Given the description of an element on the screen output the (x, y) to click on. 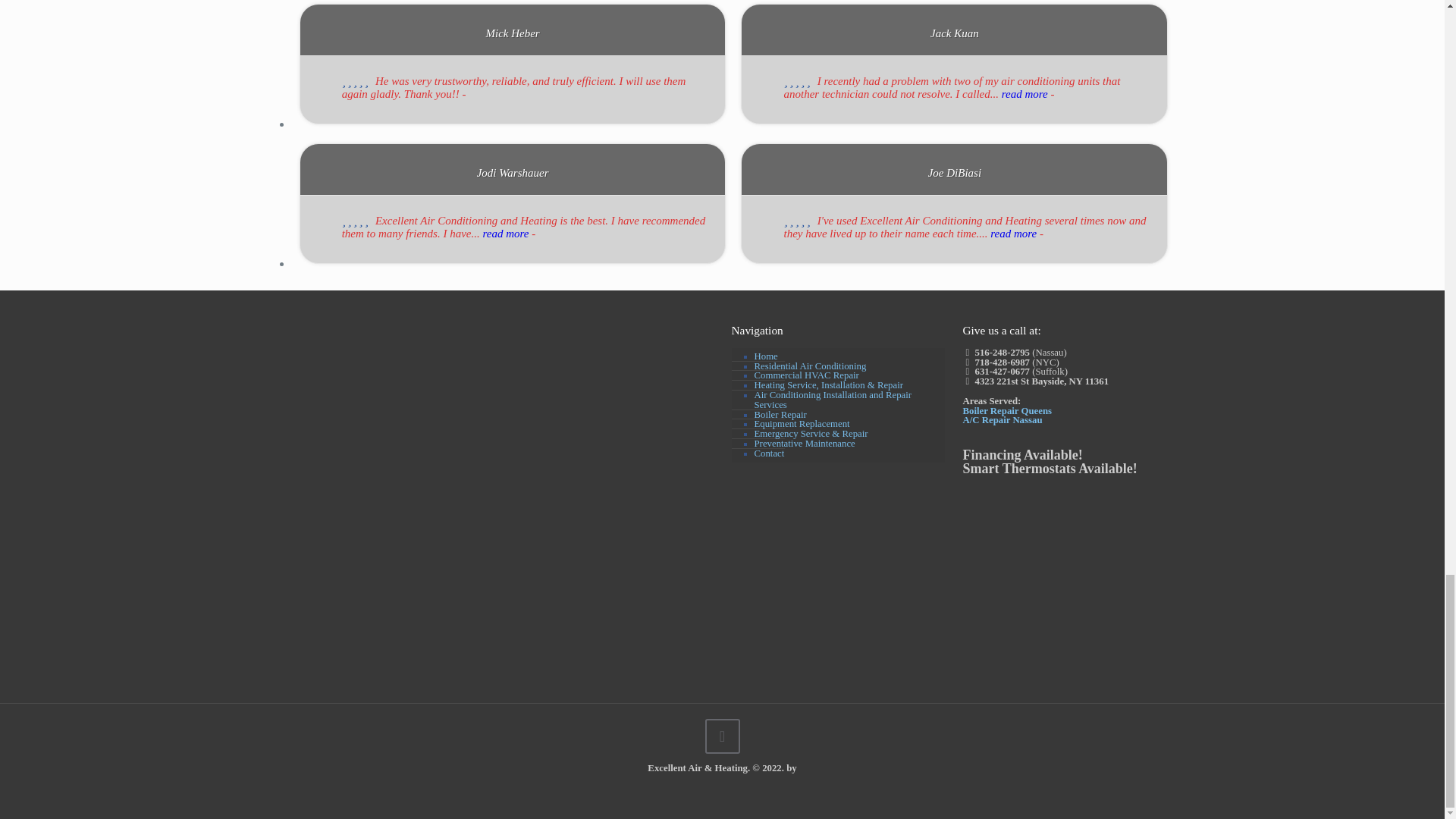
coupon (381, 381)
